Given the description of an element on the screen output the (x, y) to click on. 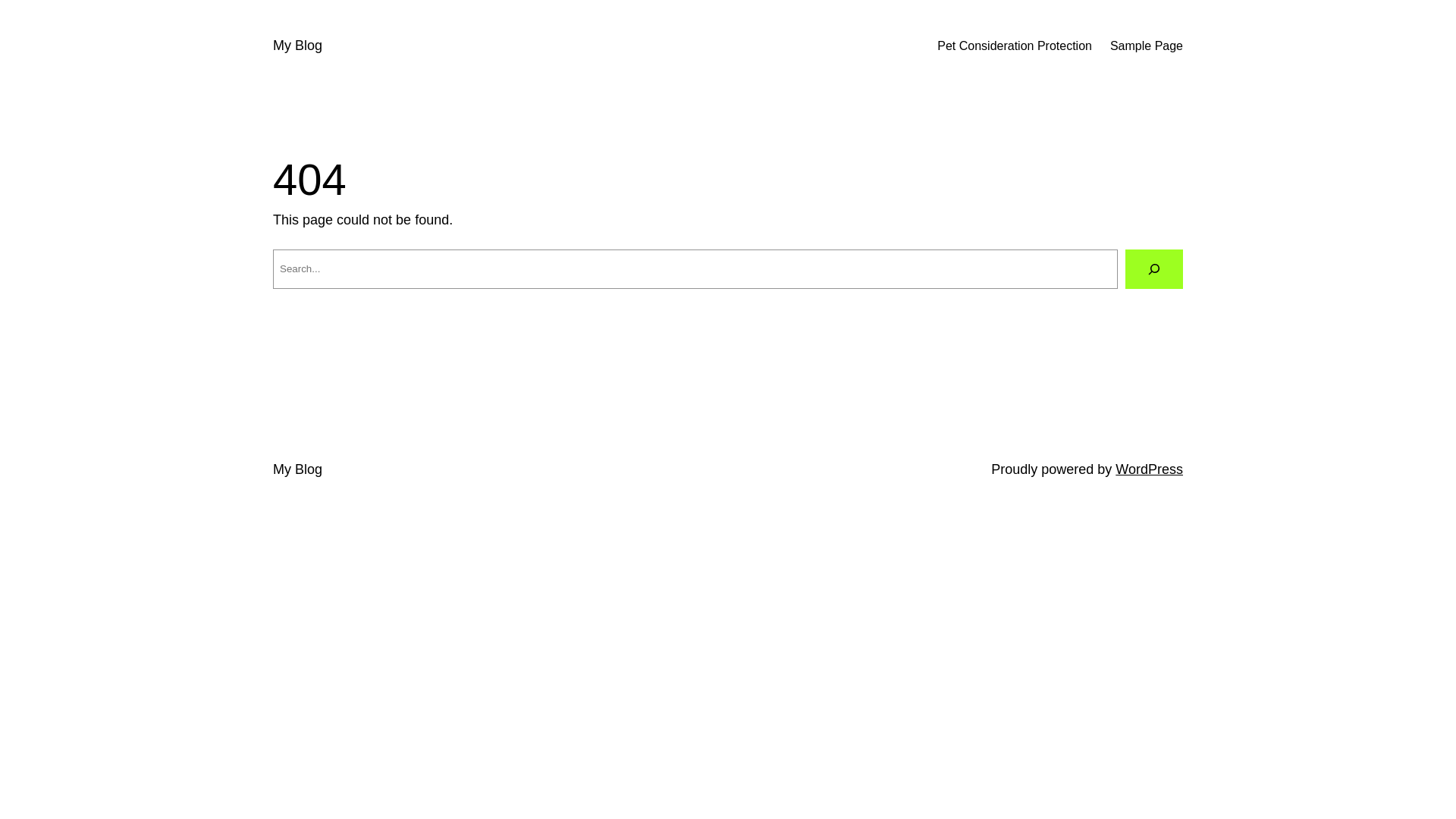
My Blog Element type: text (297, 468)
My Blog Element type: text (297, 45)
Pet Consideration Protection Element type: text (1014, 46)
Sample Page Element type: text (1146, 46)
WordPress Element type: text (1149, 468)
